Given the description of an element on the screen output the (x, y) to click on. 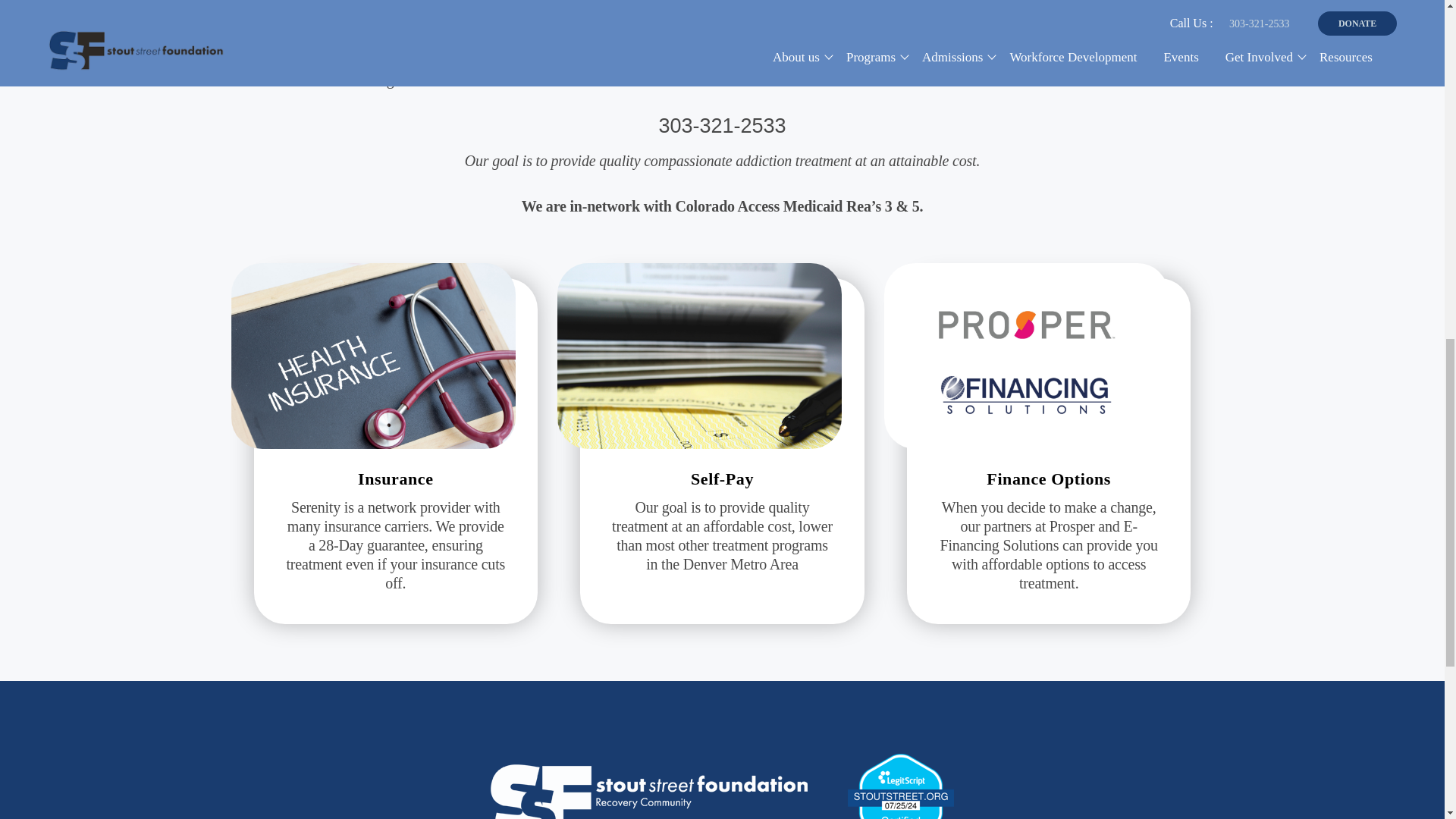
footer logo (649, 791)
Finance Options (1048, 478)
View Post (395, 478)
Insurance (395, 478)
View Post (395, 544)
View Post (373, 274)
View Post (1048, 544)
View Post (1026, 274)
Verify LegitScript Approval (900, 796)
View Post (1048, 478)
